Given the description of an element on the screen output the (x, y) to click on. 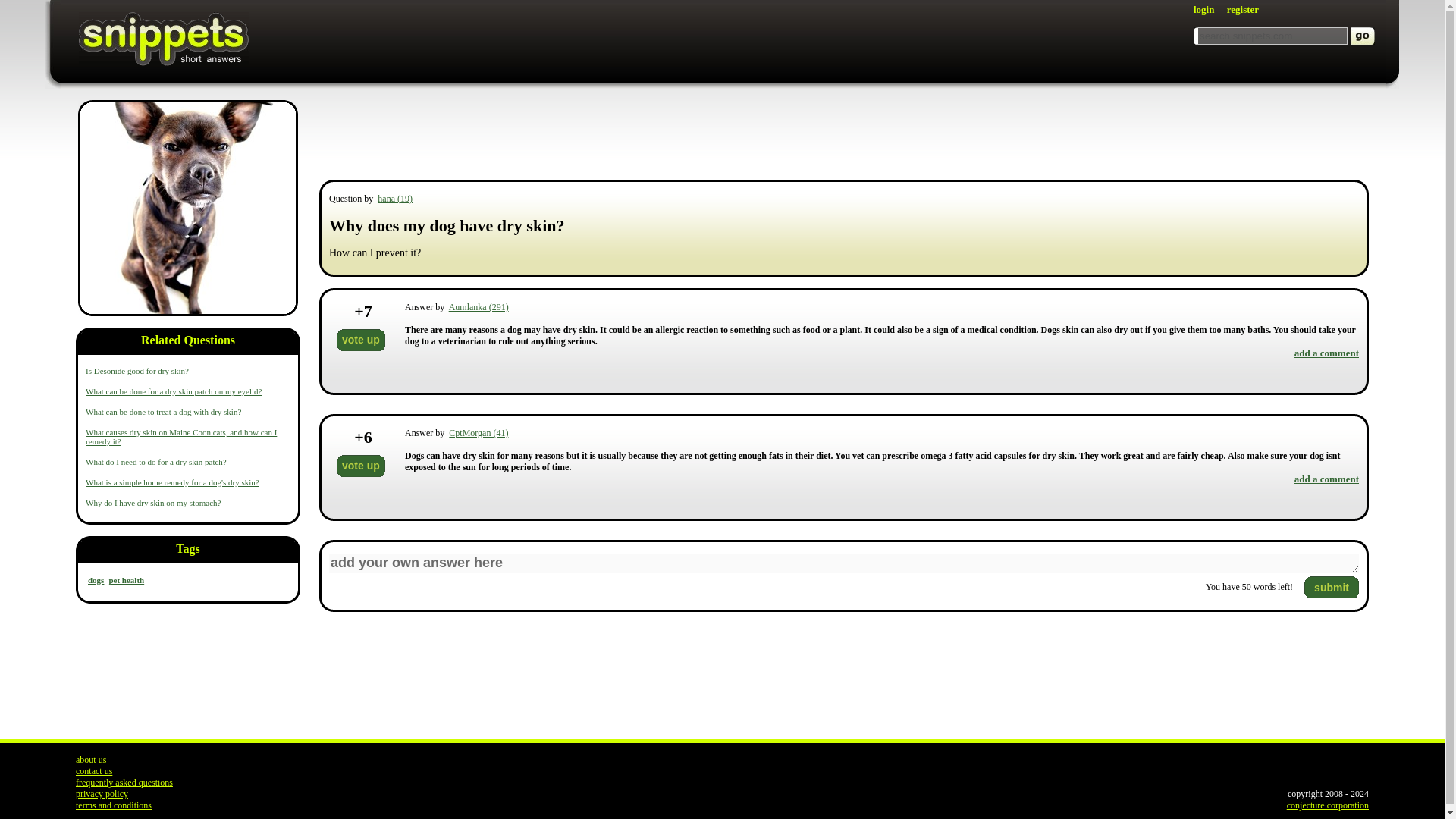
vote up (361, 340)
frequently asked questions (124, 782)
register (1243, 9)
Why do I have dry skin on my stomach? (153, 501)
conjecture corporation (1327, 805)
What can be done for a dry skin patch on my eyelid? (173, 390)
What can be done to treat a dog with dry skin? (163, 411)
submit (1331, 587)
Tags (187, 552)
What do I need to do for a dry skin patch? (156, 461)
